Given the description of an element on the screen output the (x, y) to click on. 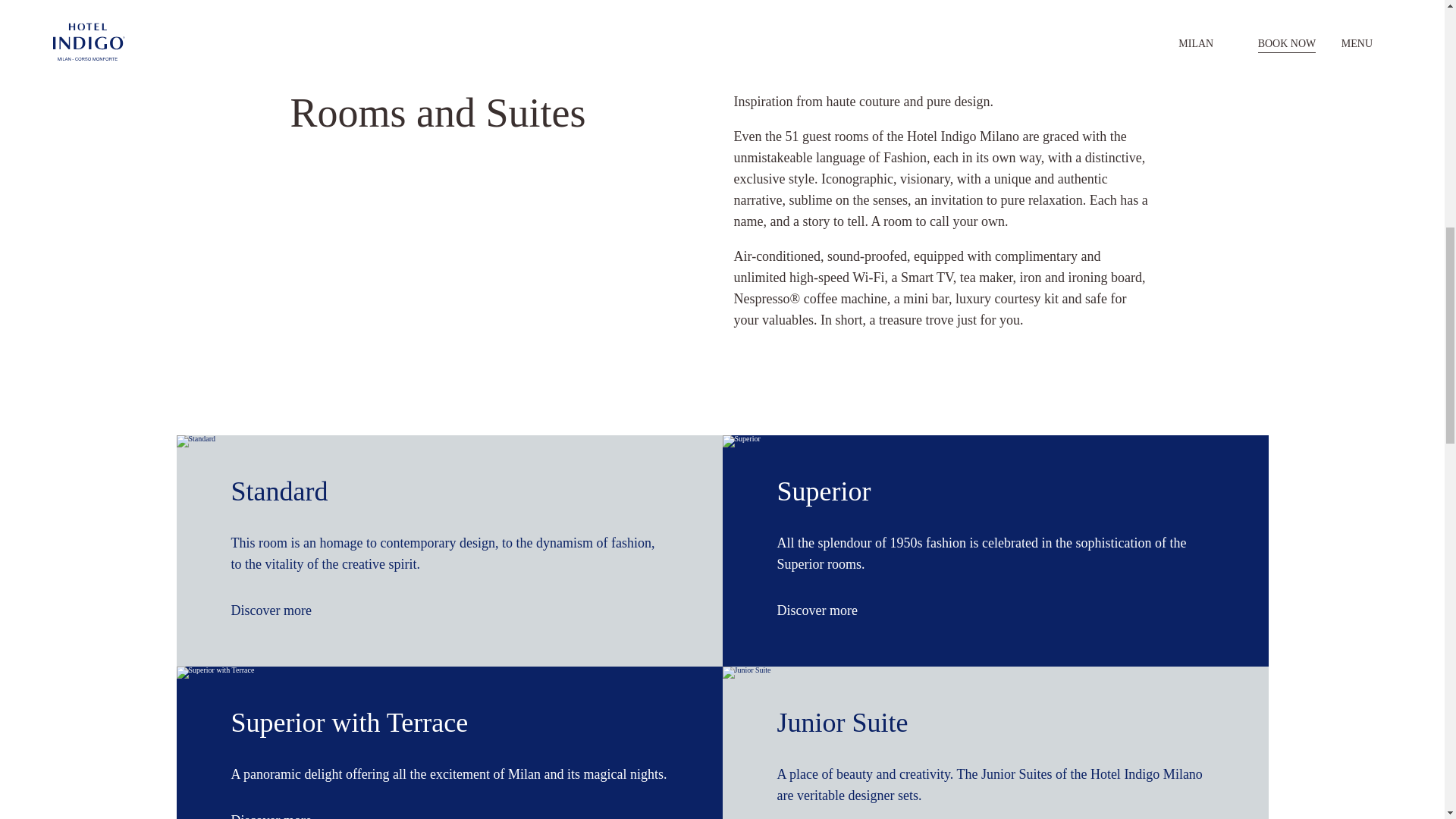
Discover more (278, 814)
Discover more (278, 814)
Discover more (824, 609)
Discover more (278, 609)
Discover more (278, 609)
Discover more (824, 609)
